Given the description of an element on the screen output the (x, y) to click on. 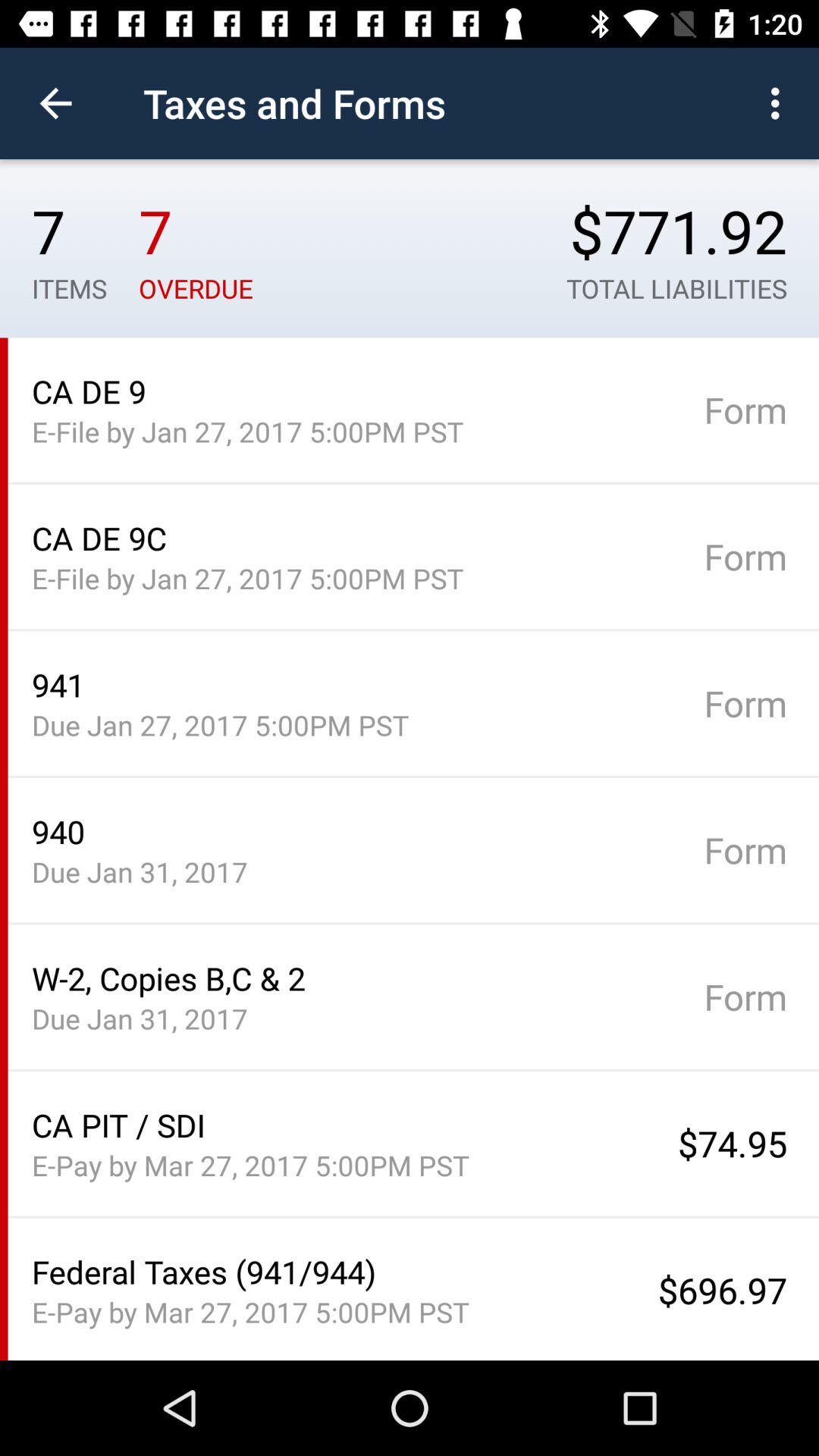
choose the item to the left of taxes and forms (55, 103)
